Given the description of an element on the screen output the (x, y) to click on. 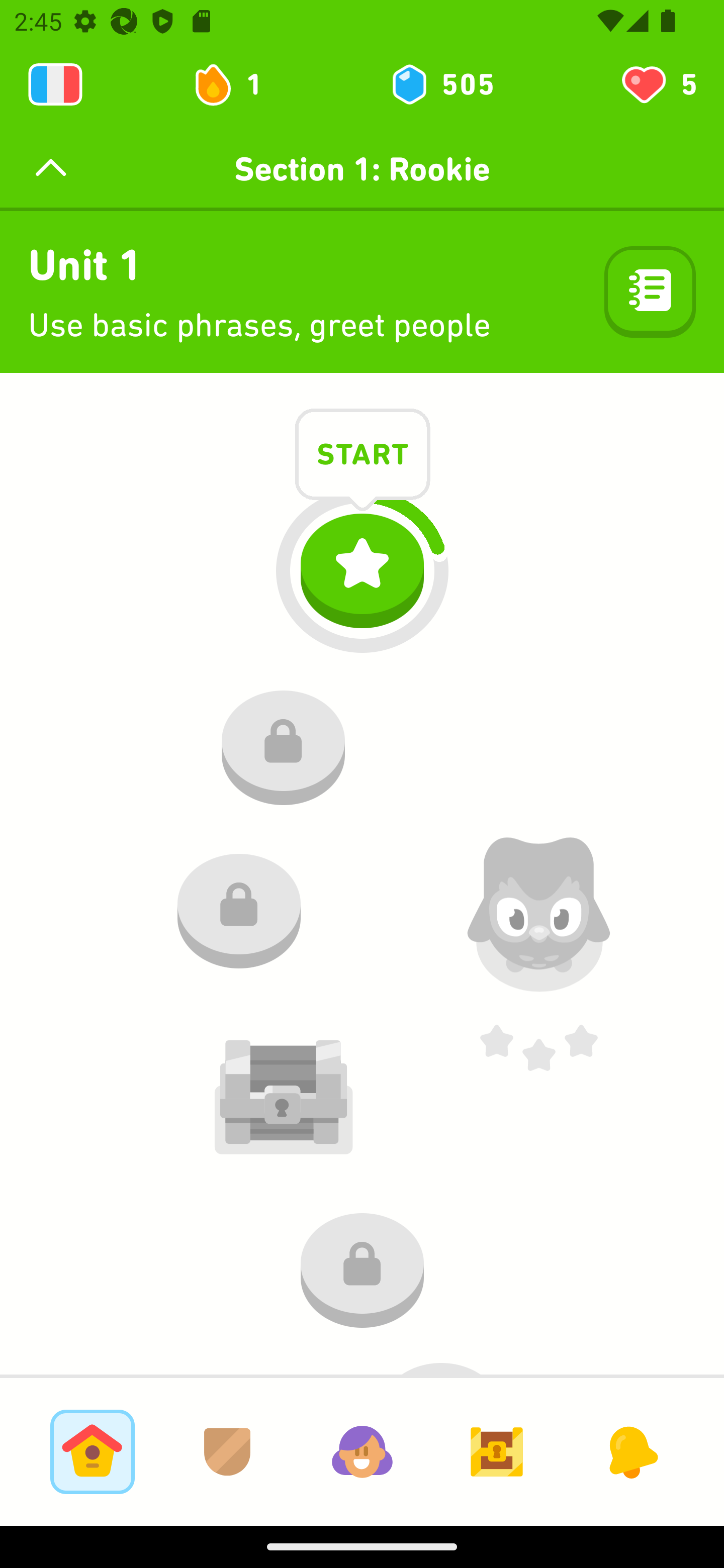
Learning 2131888976 (55, 84)
1 day streak 1 (236, 84)
505 (441, 84)
You have 5 hearts left 5 (657, 84)
Section 1: Rookie (362, 169)
START (362, 457)
Learn Tab (91, 1451)
Leagues Tab (227, 1451)
Profile Tab (361, 1451)
Goals Tab (496, 1451)
News Tab (631, 1451)
